Given the description of an element on the screen output the (x, y) to click on. 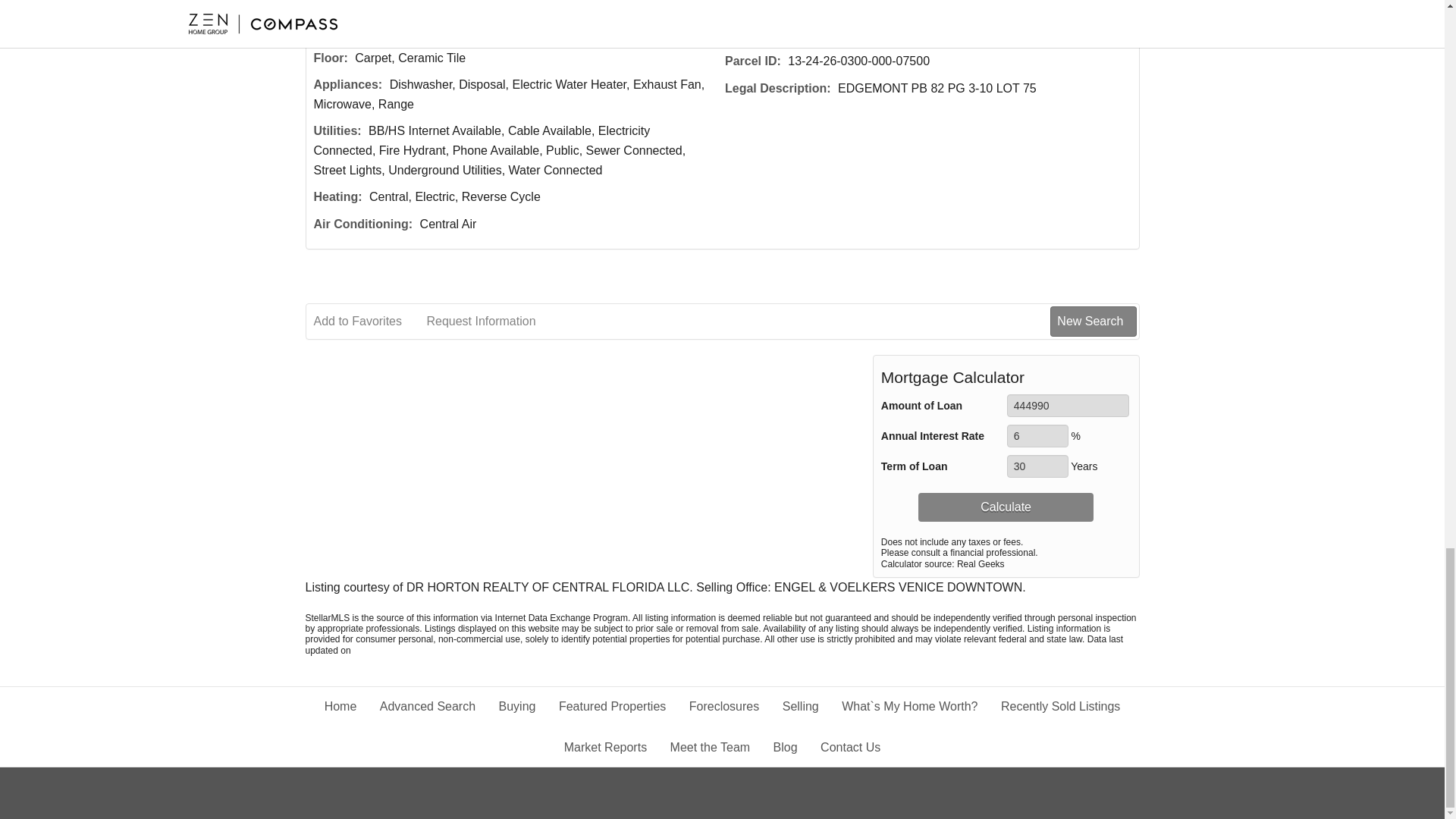
30 (1037, 466)
444990 (1068, 404)
6 (1037, 436)
